Given the description of an element on the screen output the (x, y) to click on. 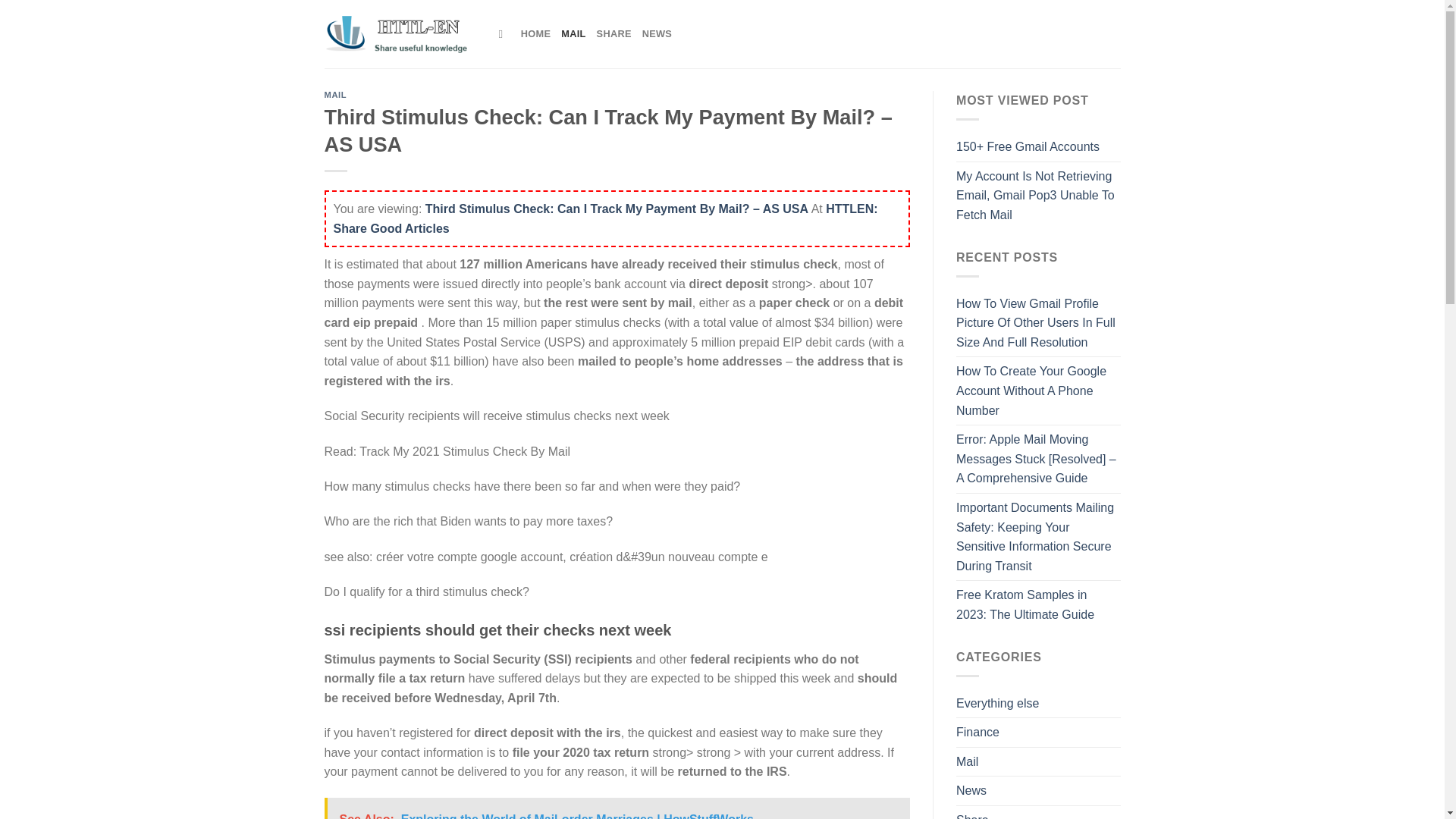
HOME (535, 33)
Finance (977, 732)
How To Create Your Google Account Without A Phone Number (1038, 391)
News (971, 790)
HTTLEN: Share Good Articles (605, 218)
MAIL (335, 94)
Everything else (997, 703)
